Given the description of an element on the screen output the (x, y) to click on. 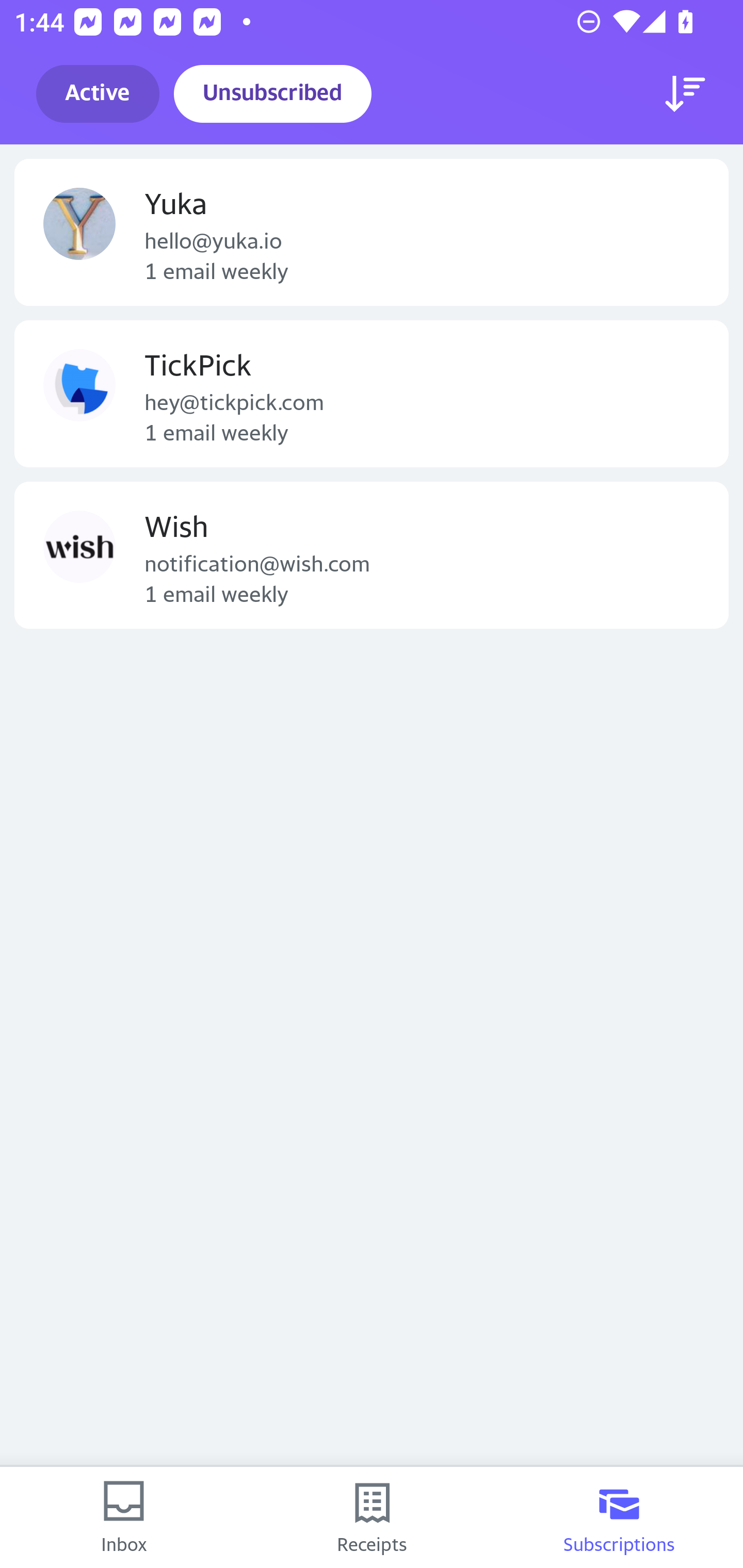
Active (97, 93)
Sort (684, 93)
Yuka hello@yuka.io 1 email weekly (371, 231)
TickPick hey@tickpick.com 1 email weekly (371, 393)
Wish notification@wish.com 1 email weekly (371, 554)
Inbox (123, 1517)
Receipts (371, 1517)
Subscriptions (619, 1517)
